Given the description of an element on the screen output the (x, y) to click on. 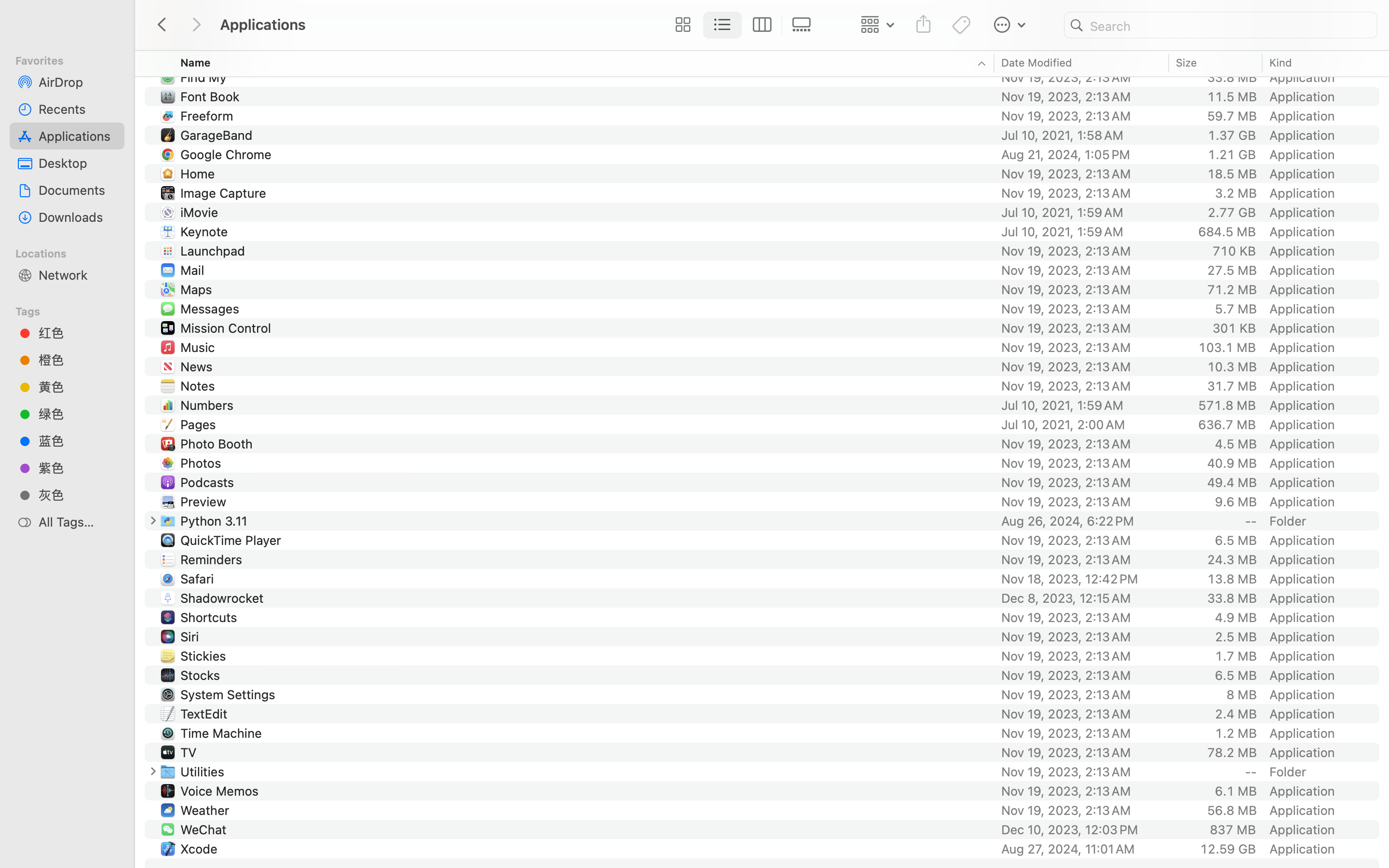
橙色 Element type: AXStaticText (77, 359)
301 KB Element type: AXStaticText (1233, 327)
AirDrop Element type: AXStaticText (77, 81)
Name Element type: AXStaticText (195, 62)
Dec 8, 2023, 12:15 AM Element type: AXStaticText (1081, 597)
